Given the description of an element on the screen output the (x, y) to click on. 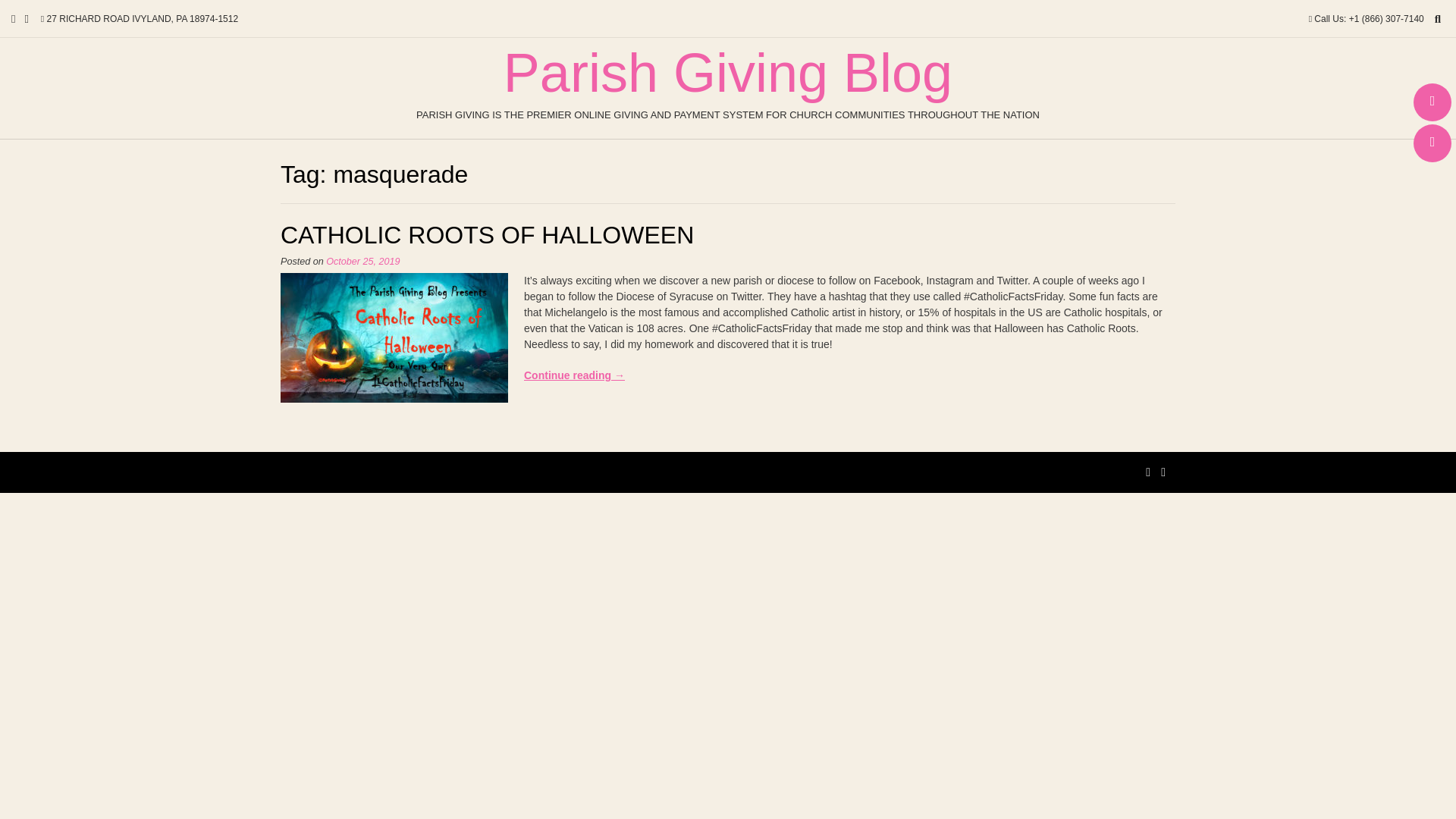
Find Us on Facebook (1432, 102)
Parish Giving Blog (727, 72)
October 25, 2019 (362, 261)
Find us on X (1432, 143)
Parish Giving Blog (727, 72)
CATHOLIC ROOTS OF HALLOWEEN (487, 234)
